Given the description of an element on the screen output the (x, y) to click on. 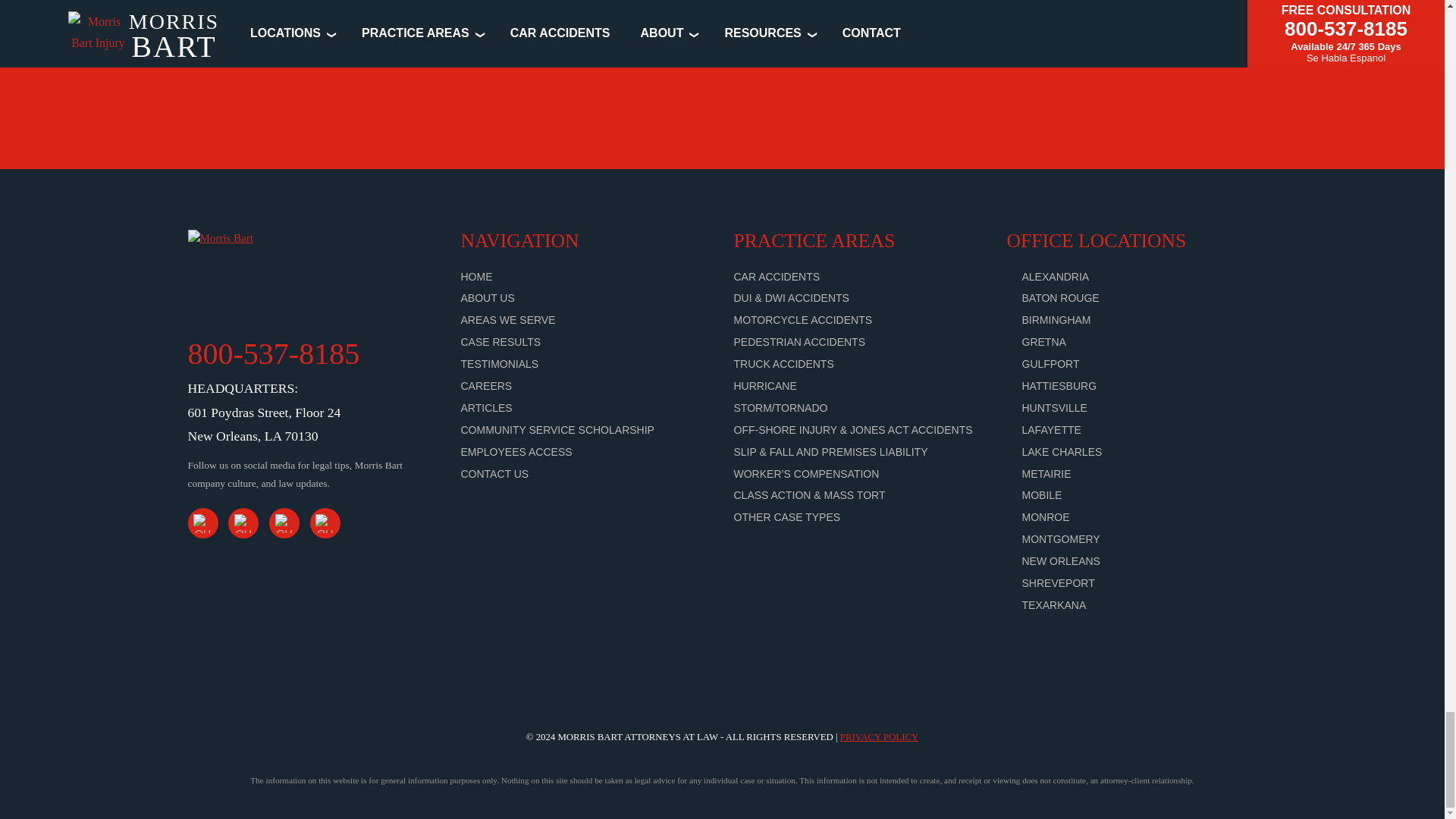
Case results (501, 341)
Articles (486, 408)
Testimonials (499, 363)
Areas We Serve (508, 319)
About us (488, 297)
Community Service Scholarship (557, 429)
Careers (486, 386)
